Given the description of an element on the screen output the (x, y) to click on. 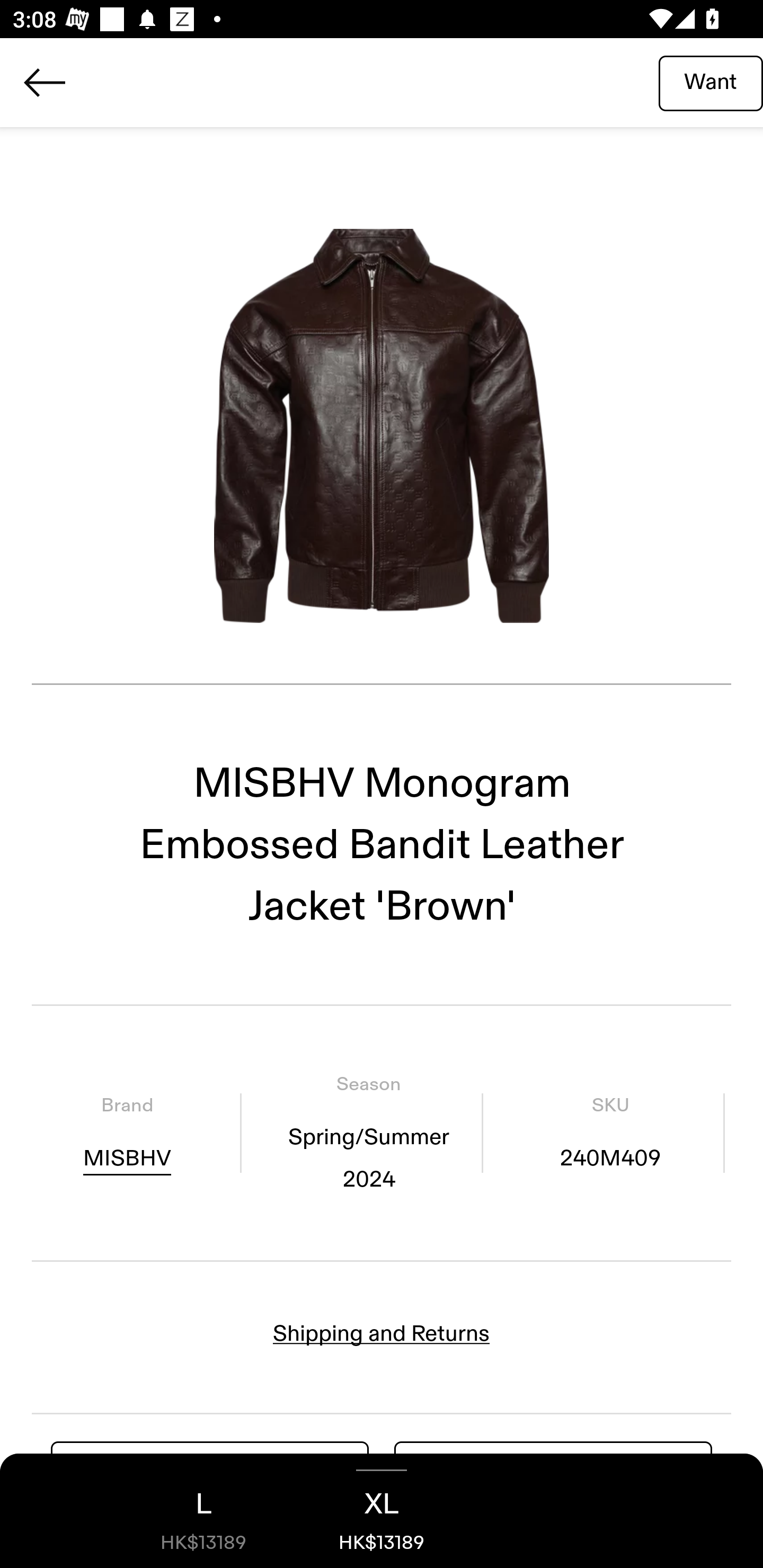
Want (710, 82)
Brand MISBHV (126, 1133)
Season Spring/Summer 2024 (368, 1133)
SKU 240M409 (609, 1133)
Shipping and Returns (381, 1333)
L HK$13189 (203, 1510)
XL HK$13189 (381, 1510)
